Given the description of an element on the screen output the (x, y) to click on. 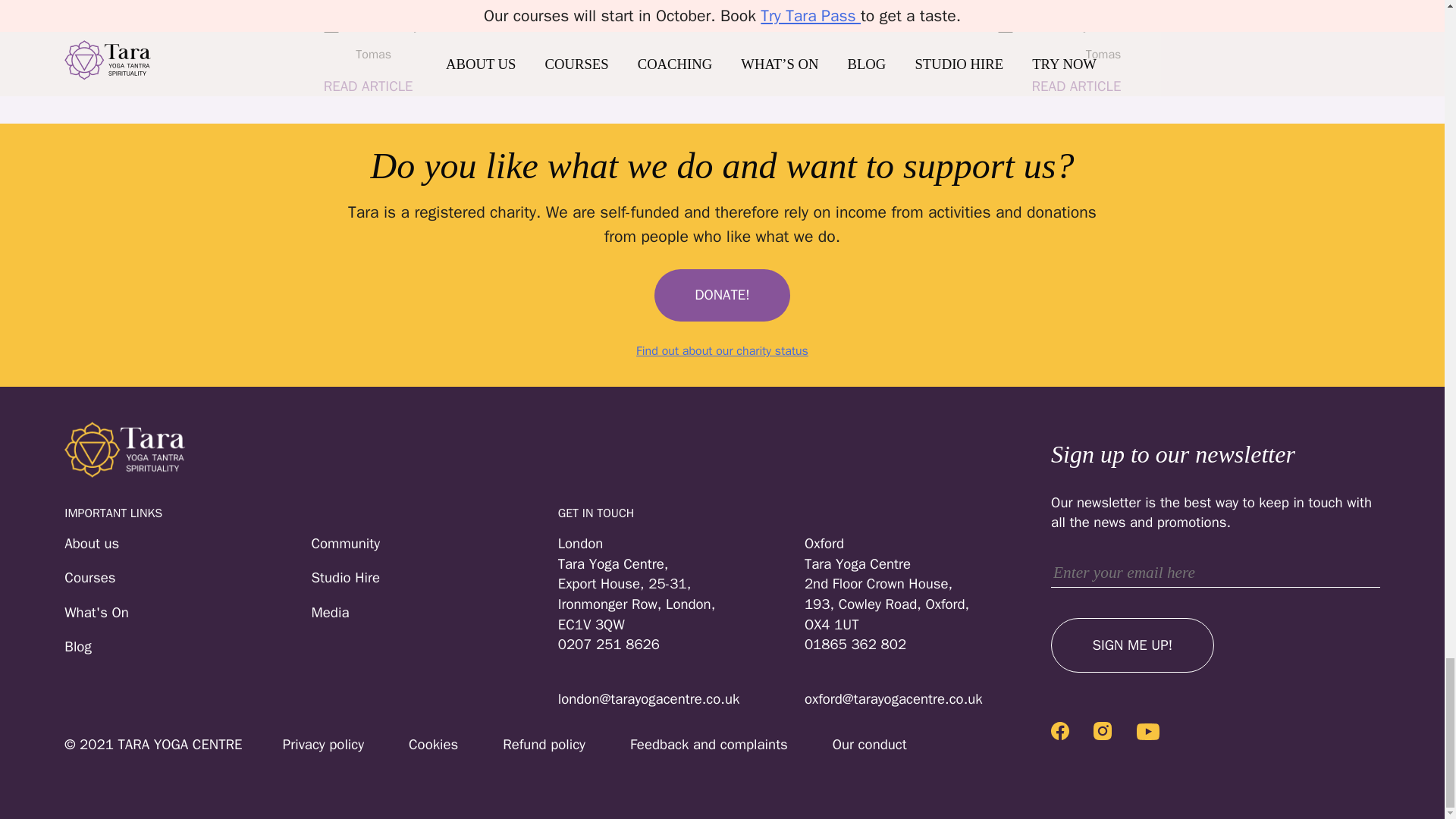
Find out about our charity status (721, 351)
DONATE! (721, 295)
Blog (187, 647)
READ ARTICLE (368, 85)
About us (187, 543)
Community (434, 543)
Sign me up! (1132, 644)
READ ARTICLE (931, 86)
Courses (187, 578)
What's On (187, 612)
